Given the description of an element on the screen output the (x, y) to click on. 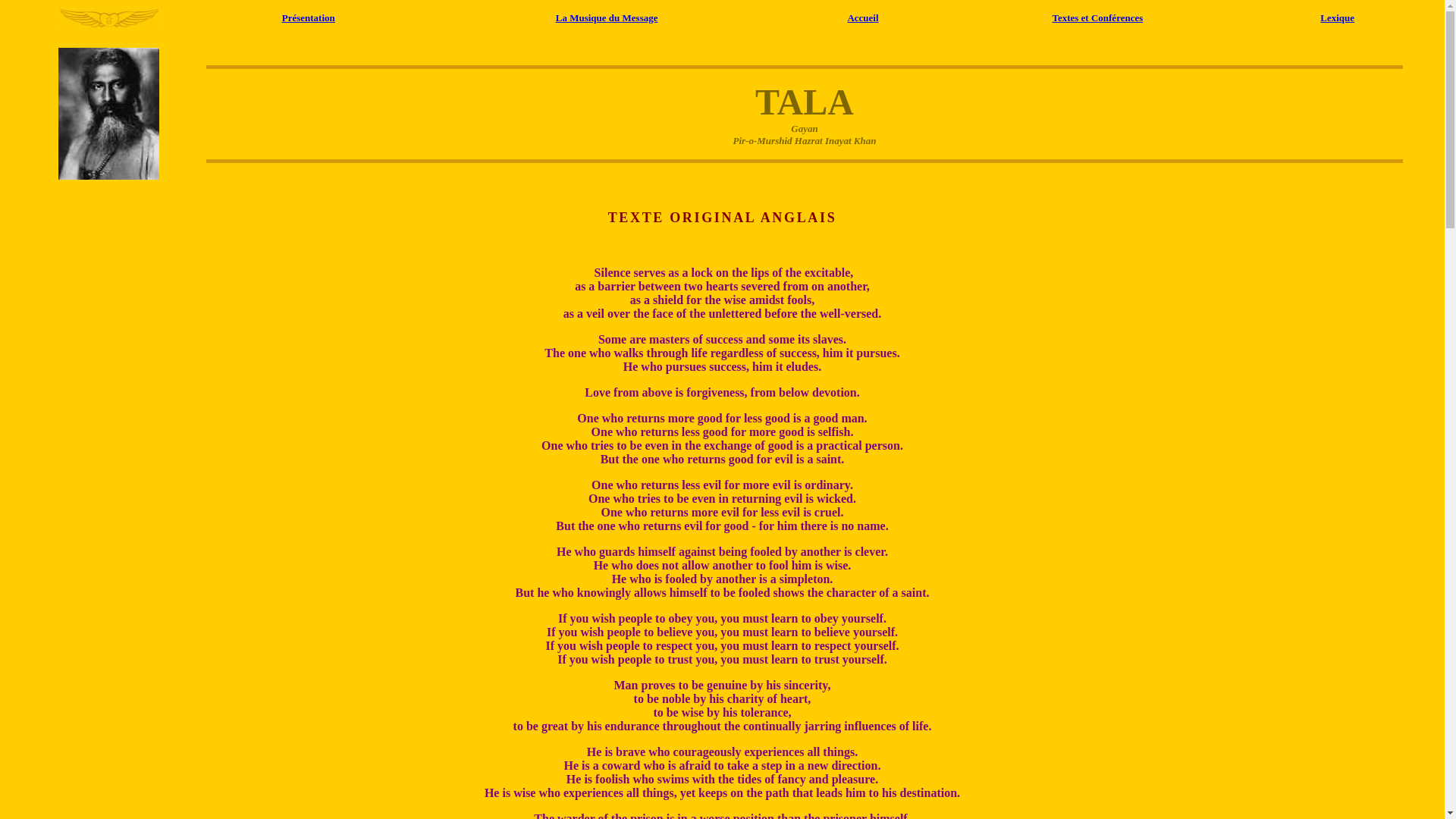
La Musique du Message (607, 16)
Lexique (1337, 16)
Accueil (862, 16)
